Given the description of an element on the screen output the (x, y) to click on. 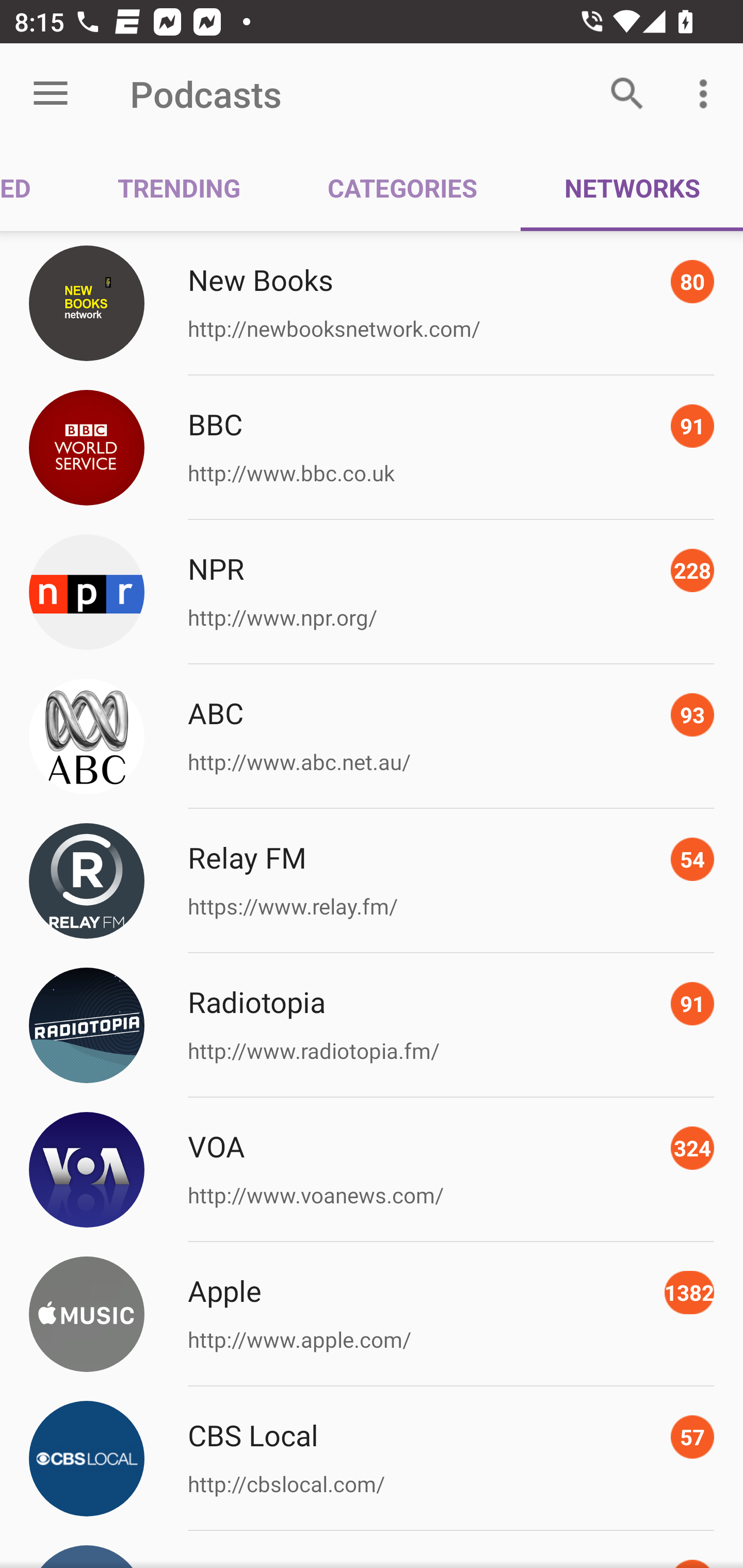
Open menu (50, 93)
Search (626, 93)
More options (706, 93)
TRENDING (178, 187)
CATEGORIES (401, 187)
NETWORKS (631, 187)
Picture New Books 80 http://newbooksnetwork.com/ (371, 302)
Picture BBC 91 http://www.bbc.co.uk (371, 447)
Picture NPR 228 http://www.npr.org/ (371, 592)
Picture ABC 93 http://www.abc.net.au/ (371, 736)
Picture Relay FM 54 https://www.relay.fm/ (371, 881)
Picture Radiotopia 91 http://www.radiotopia.fm/ (371, 1025)
Picture VOA 324 http://www.voanews.com/ (371, 1169)
Picture Apple 1382 http://www.apple.com/ (371, 1313)
Picture CBS Local 57 http://cbslocal.com/ (371, 1458)
